Given the description of an element on the screen output the (x, y) to click on. 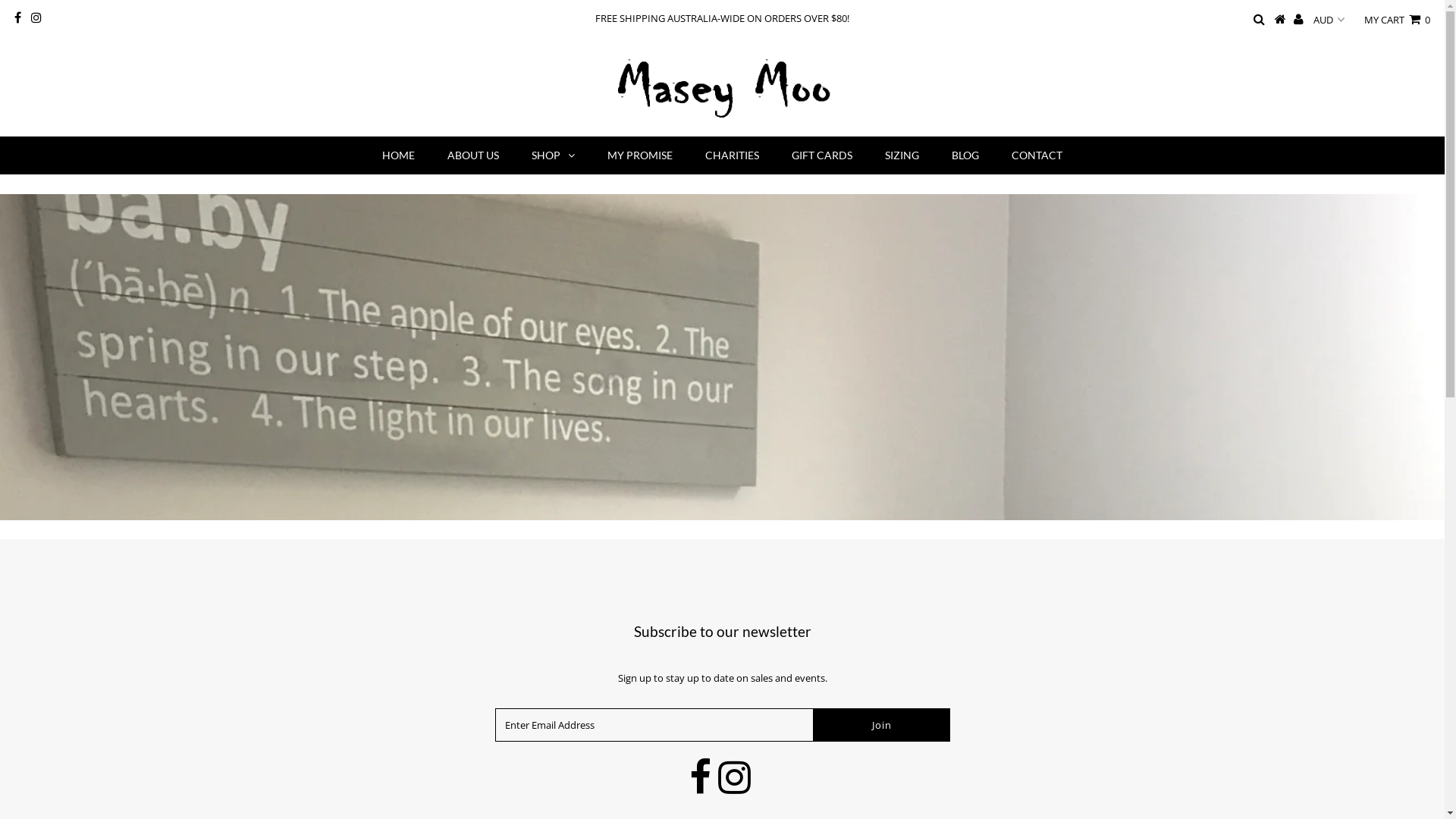
ABOUT US Element type: text (473, 155)
HOME Element type: text (398, 155)
SIZING Element type: text (901, 155)
BLOG Element type: text (965, 155)
MY CART    0 Element type: text (1397, 19)
GIFT CARDS Element type: text (821, 155)
CHARITIES Element type: text (732, 155)
SHOP Element type: text (552, 155)
MY PROMISE Element type: text (639, 155)
Join Element type: text (881, 724)
CONTACT Element type: text (1036, 155)
